Given the description of an element on the screen output the (x, y) to click on. 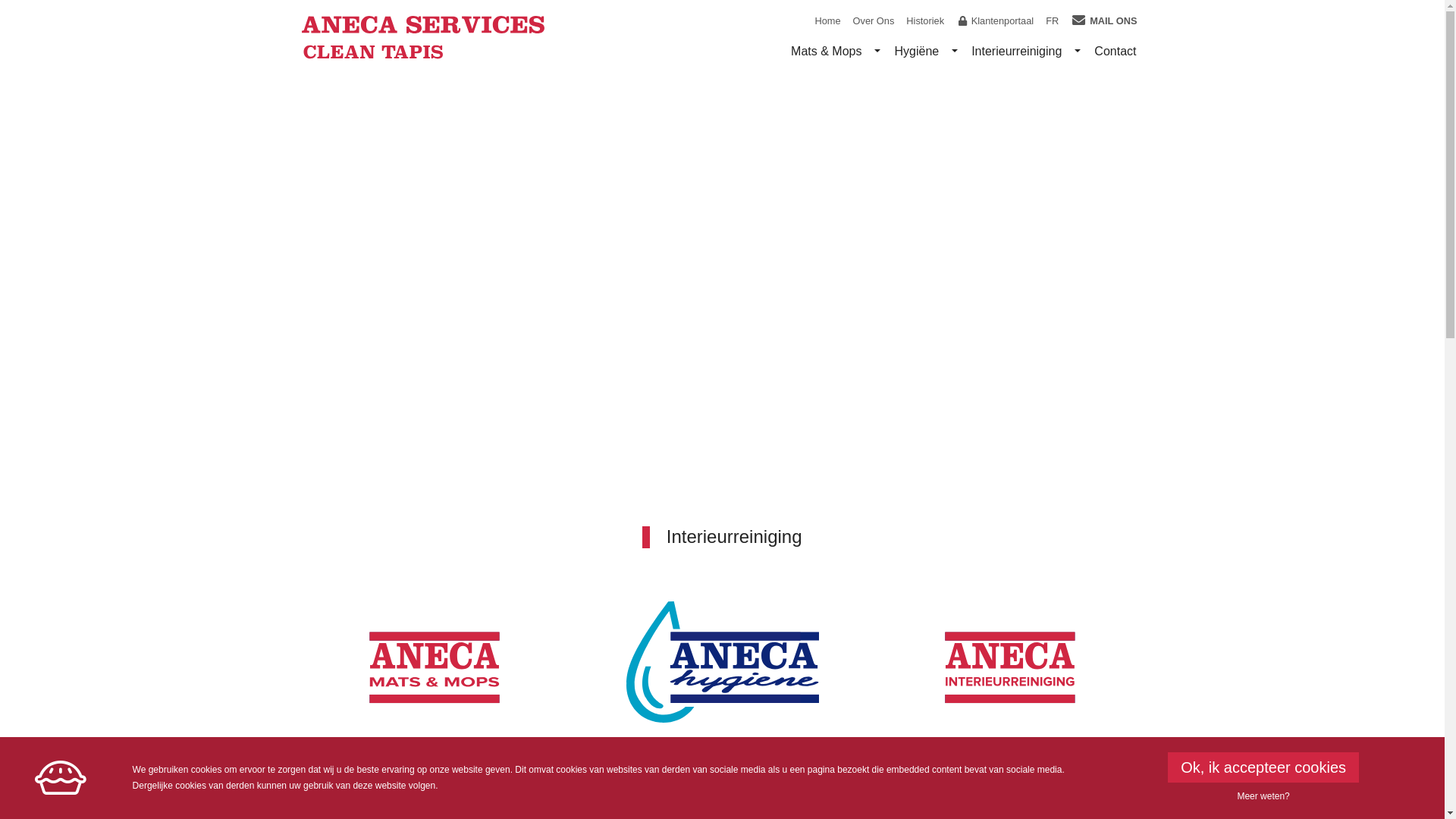
Interieurreiniging Element type: text (1016, 51)
Contact Element type: text (1114, 51)
Klantenportaal Element type: text (994, 20)
FR Element type: text (1051, 20)
Historiek Element type: text (925, 20)
Toggle Dropdown Element type: text (954, 51)
Over Ons Element type: text (873, 20)
Previous Element type: text (108, 318)
Home Element type: text (827, 20)
Mats & Mops Element type: text (826, 51)
Toggle Dropdown Element type: text (877, 51)
MAIL ONS Element type: text (1103, 20)
Ok, ik accepteer cookies Element type: text (1262, 767)
Next Element type: text (1335, 318)
Toggle Dropdown Element type: text (1077, 51)
Meer weten? Element type: text (1262, 795)
